Given the description of an element on the screen output the (x, y) to click on. 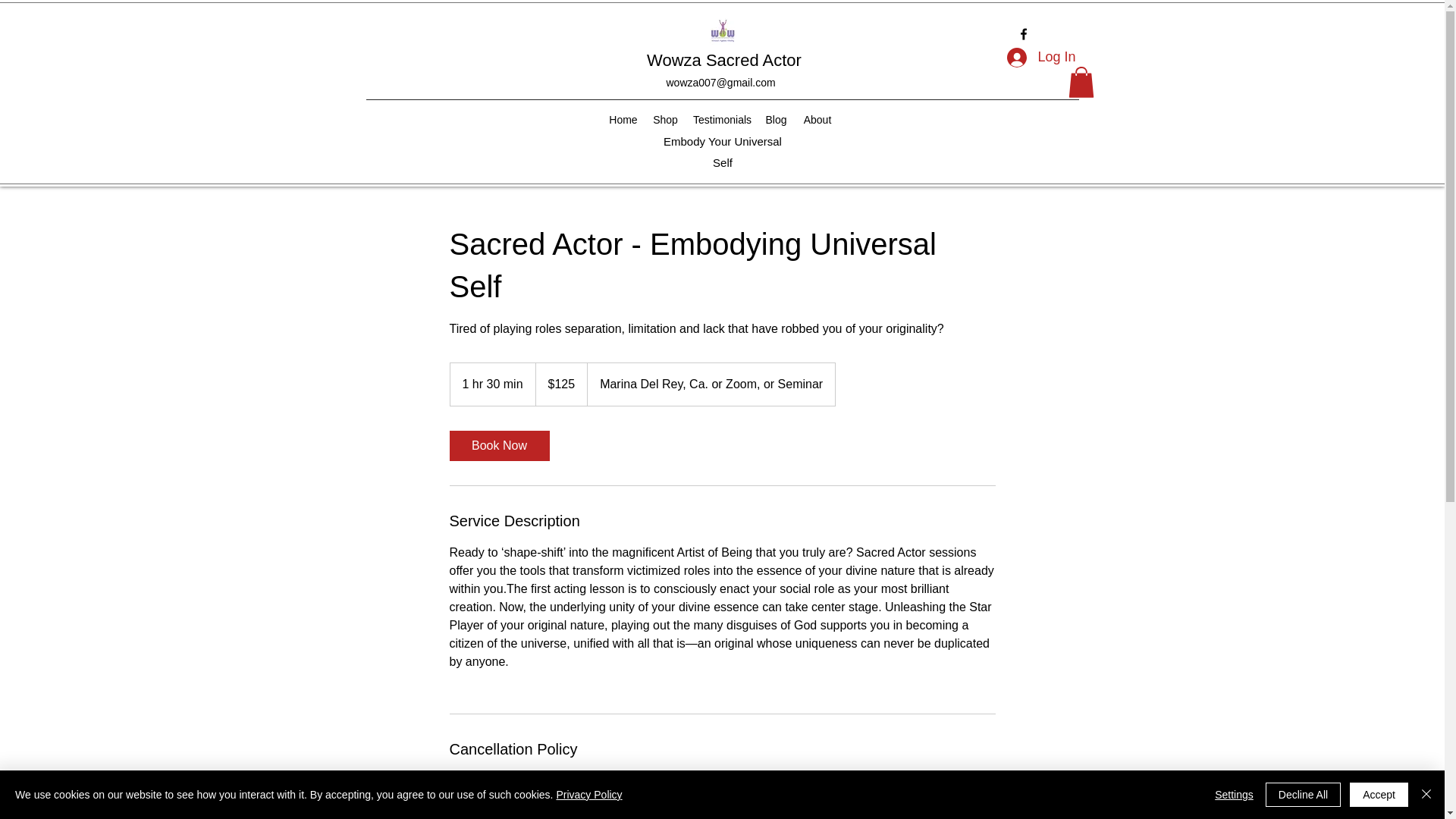
Privacy Policy (588, 794)
Blog (775, 119)
Accept (1378, 794)
Wowza Sacred Actor (724, 59)
Decline All (1302, 794)
Testimonials (721, 119)
Book Now (498, 445)
Shop (665, 119)
About (817, 119)
Log In (1040, 57)
Home (623, 119)
